Given the description of an element on the screen output the (x, y) to click on. 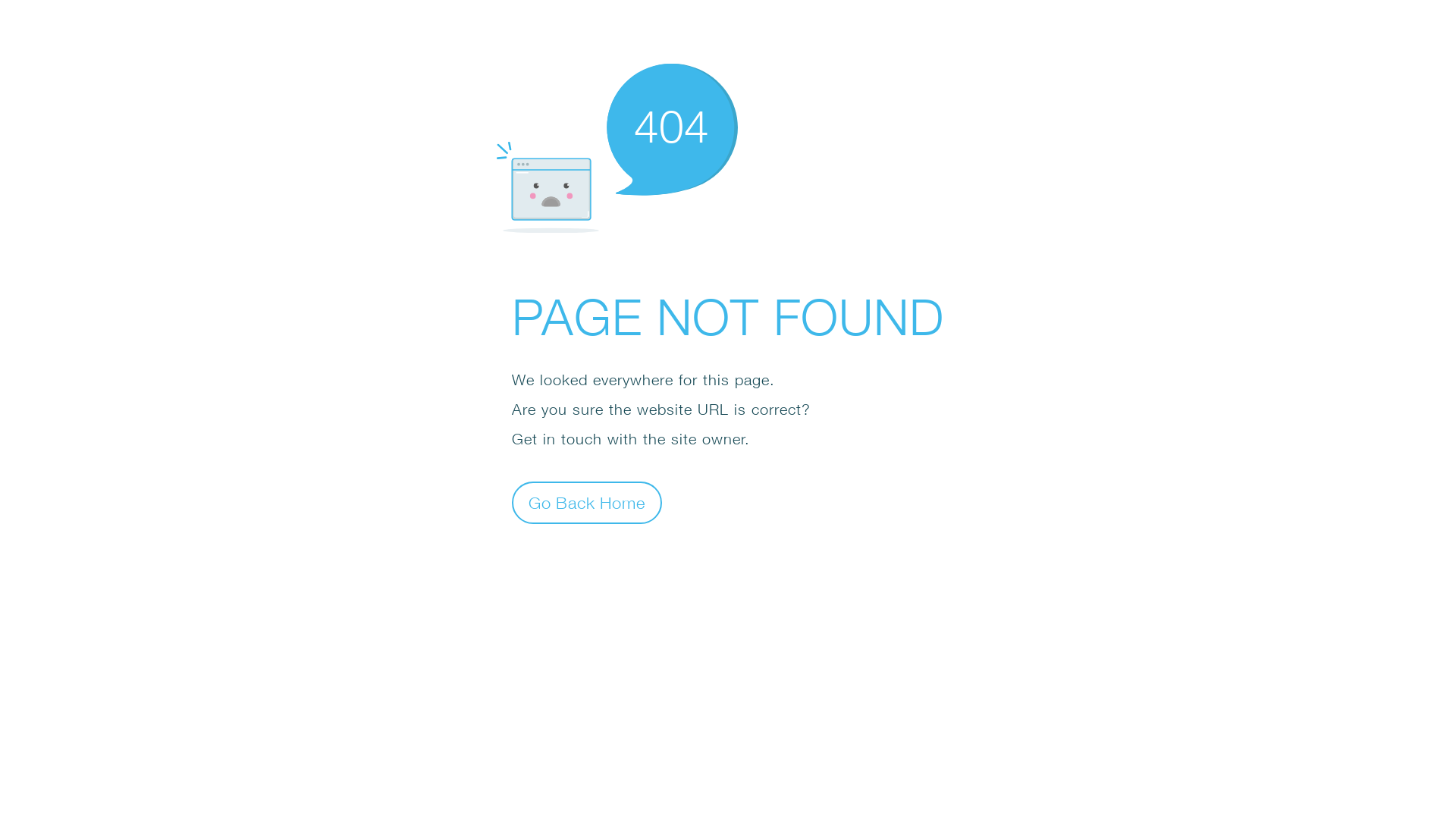
Go Back Home Element type: text (586, 502)
